Given the description of an element on the screen output the (x, y) to click on. 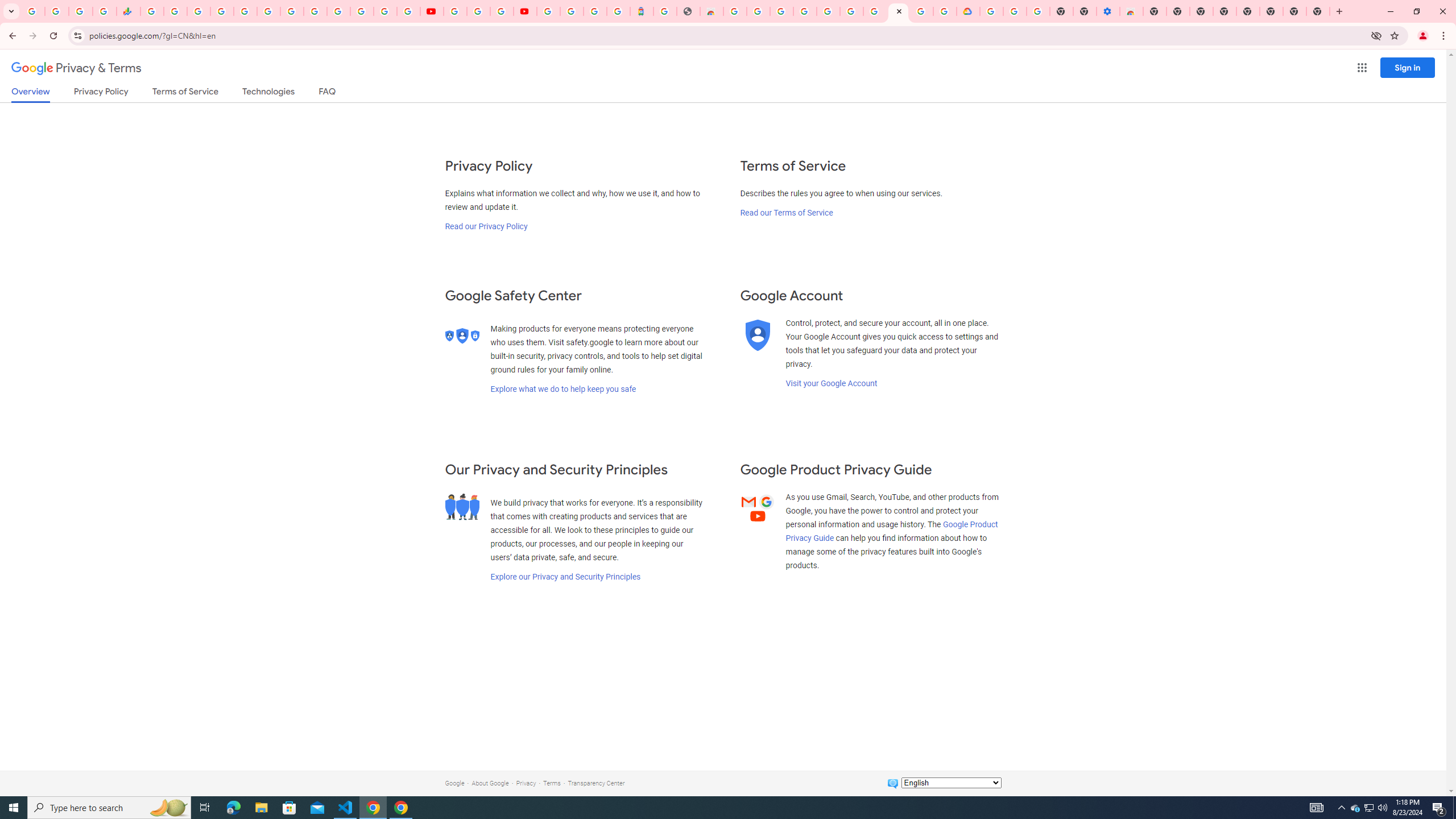
Google Account Help (1015, 11)
Sign in - Google Accounts (338, 11)
New Tab (1155, 11)
Chrome Web Store - Accessibility extensions (1131, 11)
Settings - Accessibility (1108, 11)
